Given the description of an element on the screen output the (x, y) to click on. 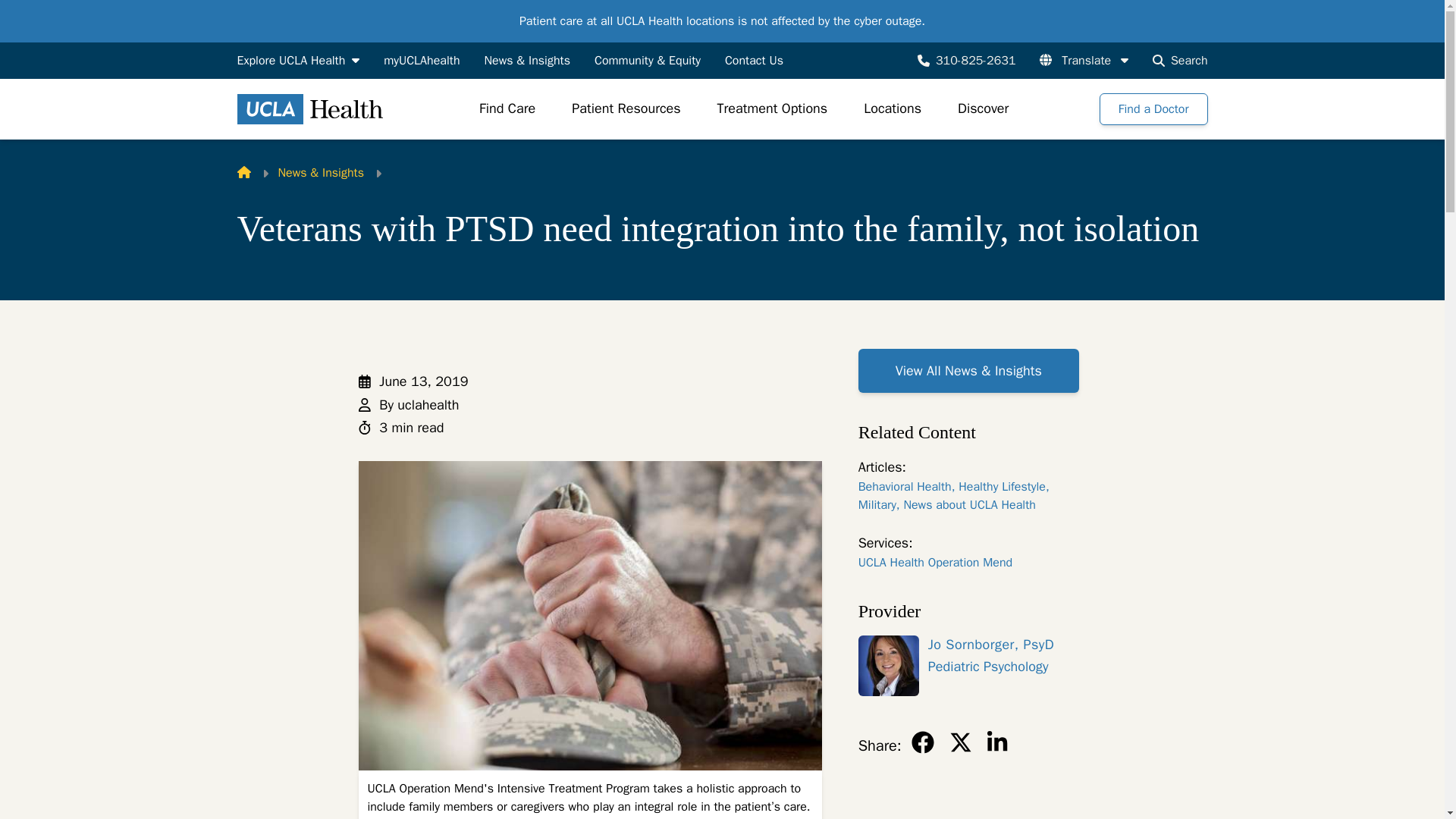
Explore UCLA Health (297, 60)
myUCLAhealth (421, 60)
Translate (1083, 60)
Find Care (507, 108)
310-825-2631 (966, 60)
myUCLAhealth Login. (421, 60)
Contact Us (753, 60)
Search (1180, 60)
